Given the description of an element on the screen output the (x, y) to click on. 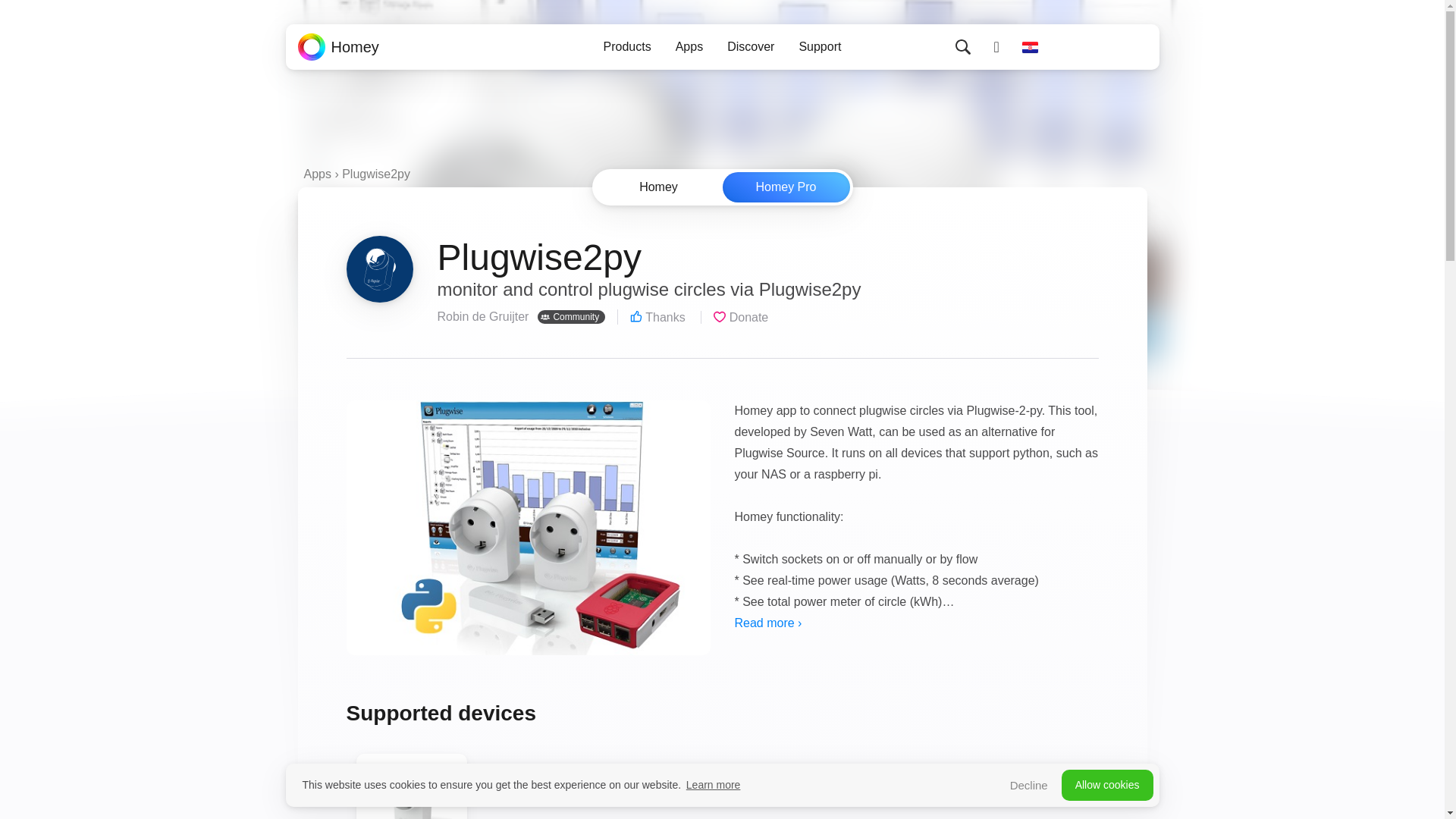
Support (819, 46)
Allow cookies (1107, 784)
Decline (1028, 784)
Homey (337, 46)
Choose your country (1029, 46)
Choose your platform (721, 186)
Start for Free (1101, 46)
Home (337, 46)
Learn more (713, 784)
Search (962, 46)
Apps (688, 46)
Login (996, 46)
Products (627, 46)
Discover (750, 46)
